Given the description of an element on the screen output the (x, y) to click on. 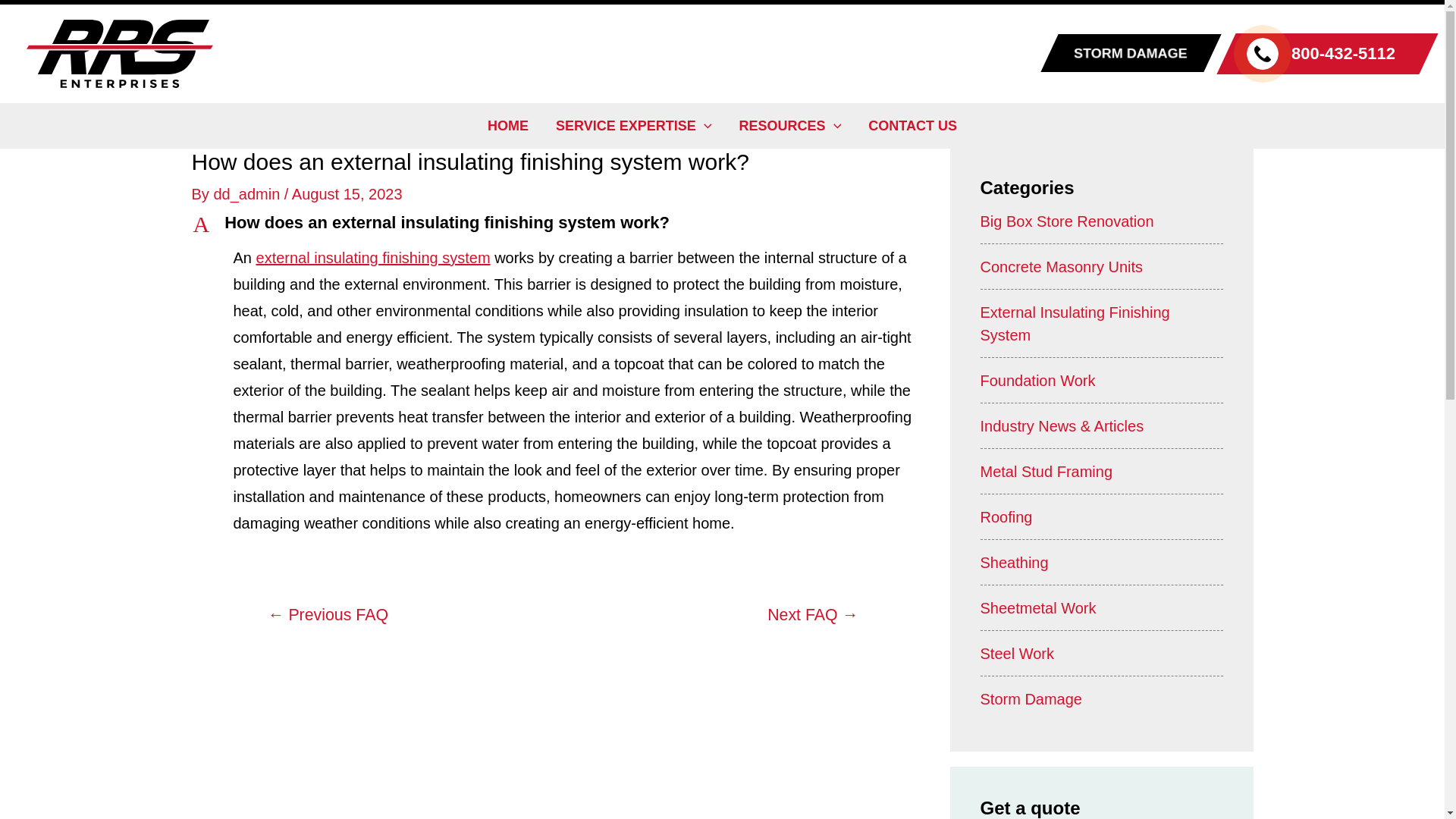
STORM DAMAGE  (1141, 53)
Big Box Store Renovation (1066, 221)
SERVICE EXPERTISE (633, 125)
800-432-5112 (1327, 53)
external insulating finishing system (373, 257)
CONTACT US (912, 125)
Metal Stud Framing (1045, 471)
RESOURCES (790, 125)
HOME (507, 125)
How do I install an external insulating finishing system? (812, 615)
Concrete Masonry Units (1060, 266)
Roofing (562, 222)
Foundation Work (1005, 516)
